Given the description of an element on the screen output the (x, y) to click on. 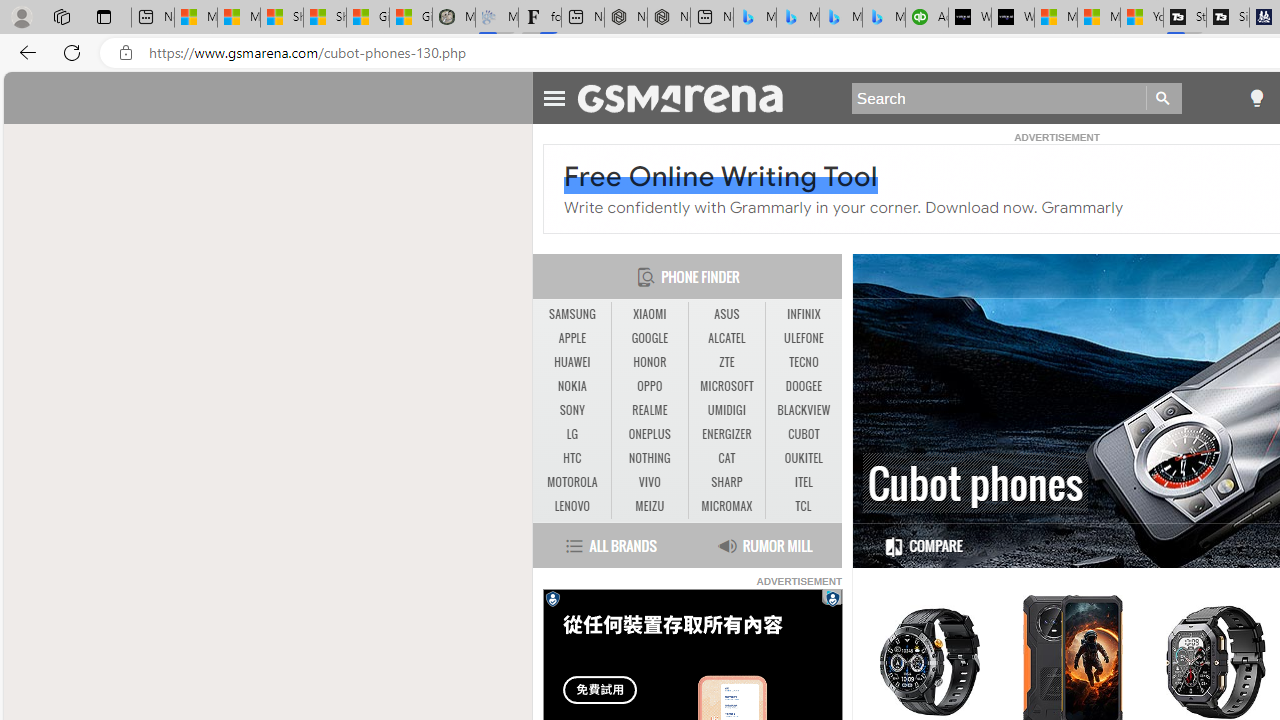
SONY (571, 411)
What's the best AI voice generator? - voice.ai (1013, 17)
ZTE (726, 362)
SONY (571, 410)
OUKITEL (803, 457)
Microsoft Start Sports (1055, 17)
SAMSUNG (571, 314)
ENERGIZER (726, 434)
Manatee Mortality Statistics | FWC (453, 17)
TCL (802, 506)
MEIZU (649, 506)
ALCATEL (726, 339)
